Given the description of an element on the screen output the (x, y) to click on. 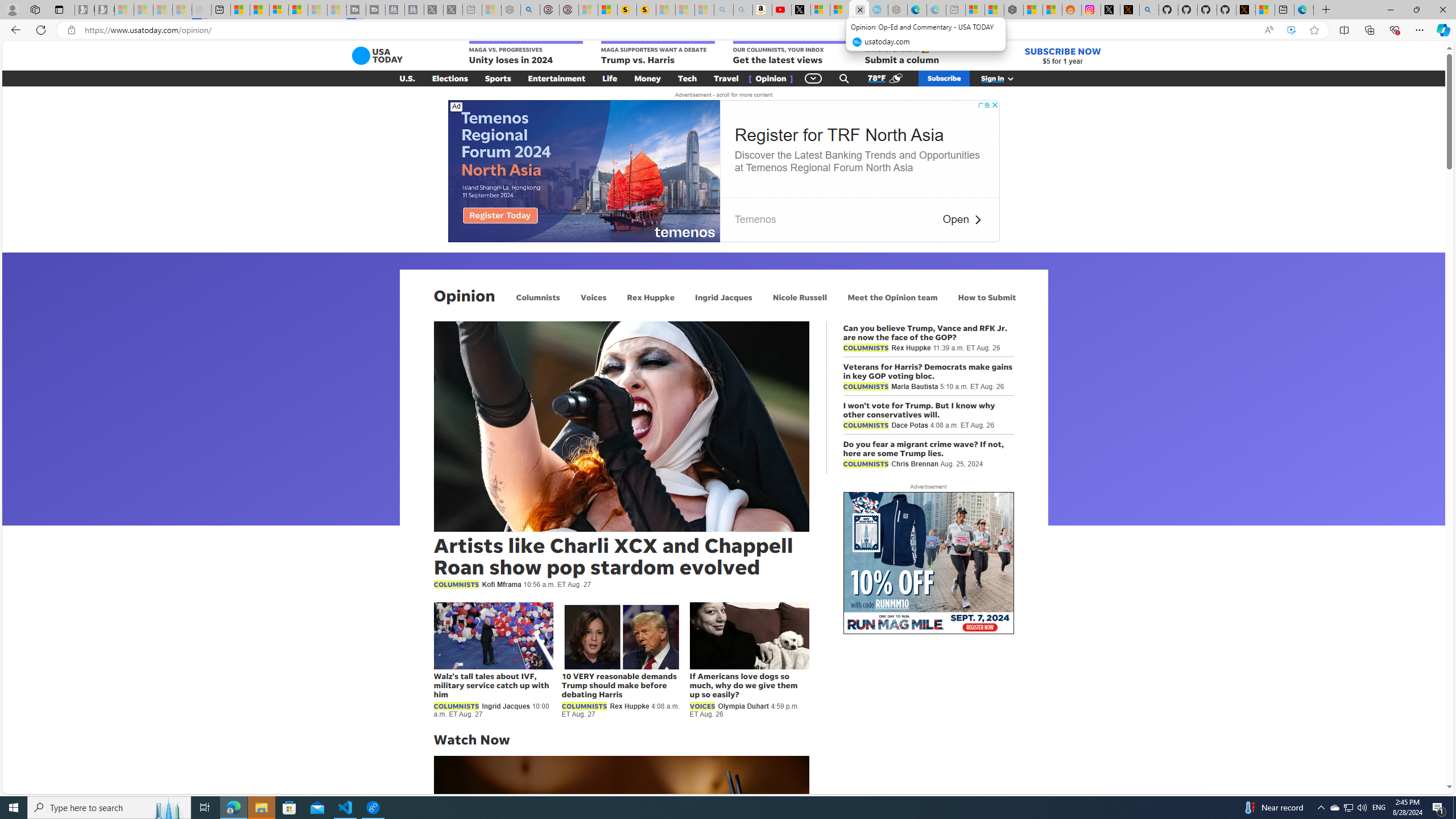
Voices (593, 296)
Microsoft account | Microsoft Account Privacy Settings (975, 9)
Class: ns-dqusr-e-25 (977, 219)
[ Opinion ] (770, 78)
Sign In (1002, 78)
Shanghai, China Weather trends | Microsoft Weather (1052, 9)
SUBSCRIBE NOW $5 for 1 year (1062, 55)
Log in to X / X (1110, 9)
Search (844, 78)
